Given the description of an element on the screen output the (x, y) to click on. 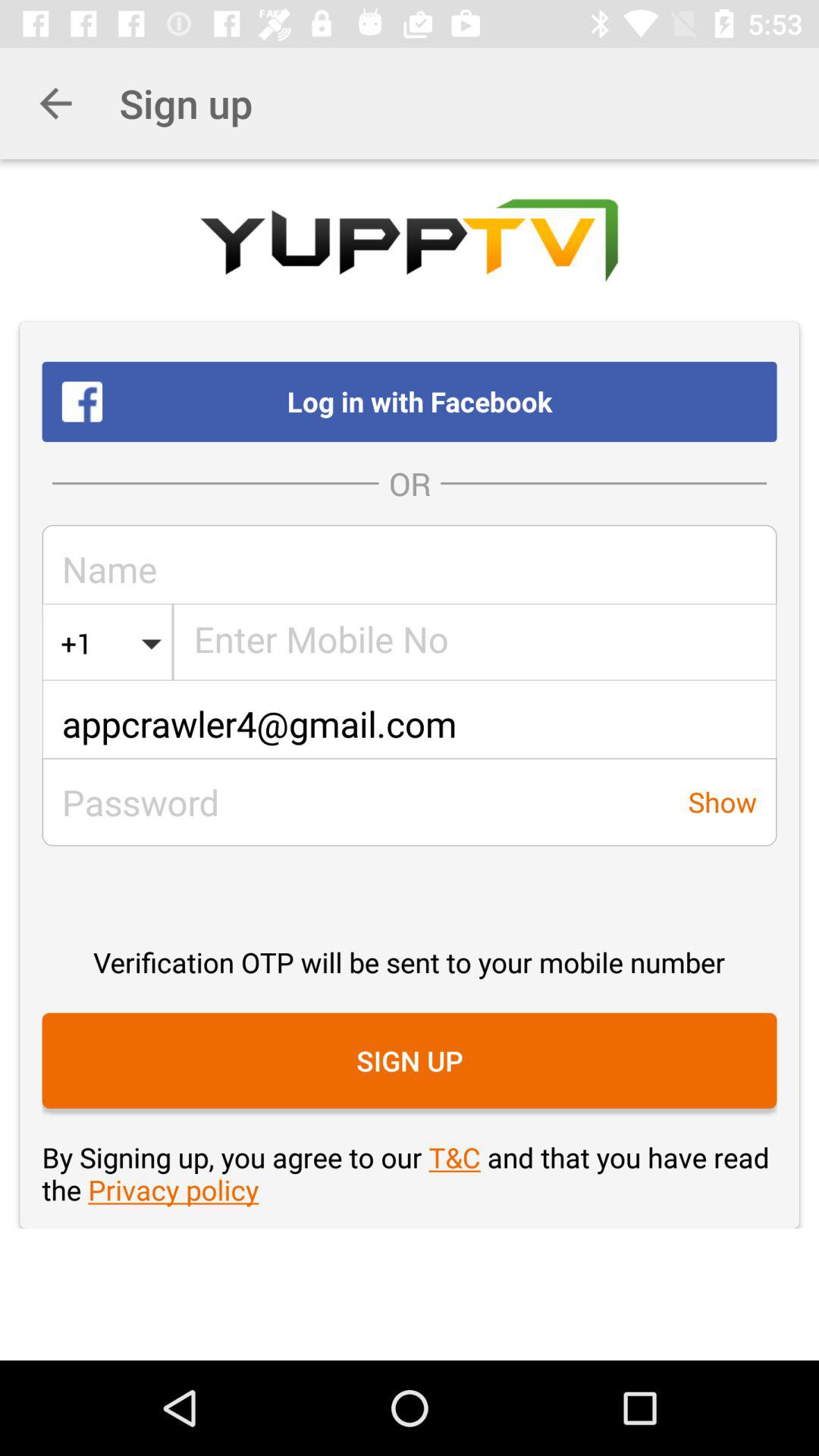
choose the icon below the or item (409, 568)
